Given the description of an element on the screen output the (x, y) to click on. 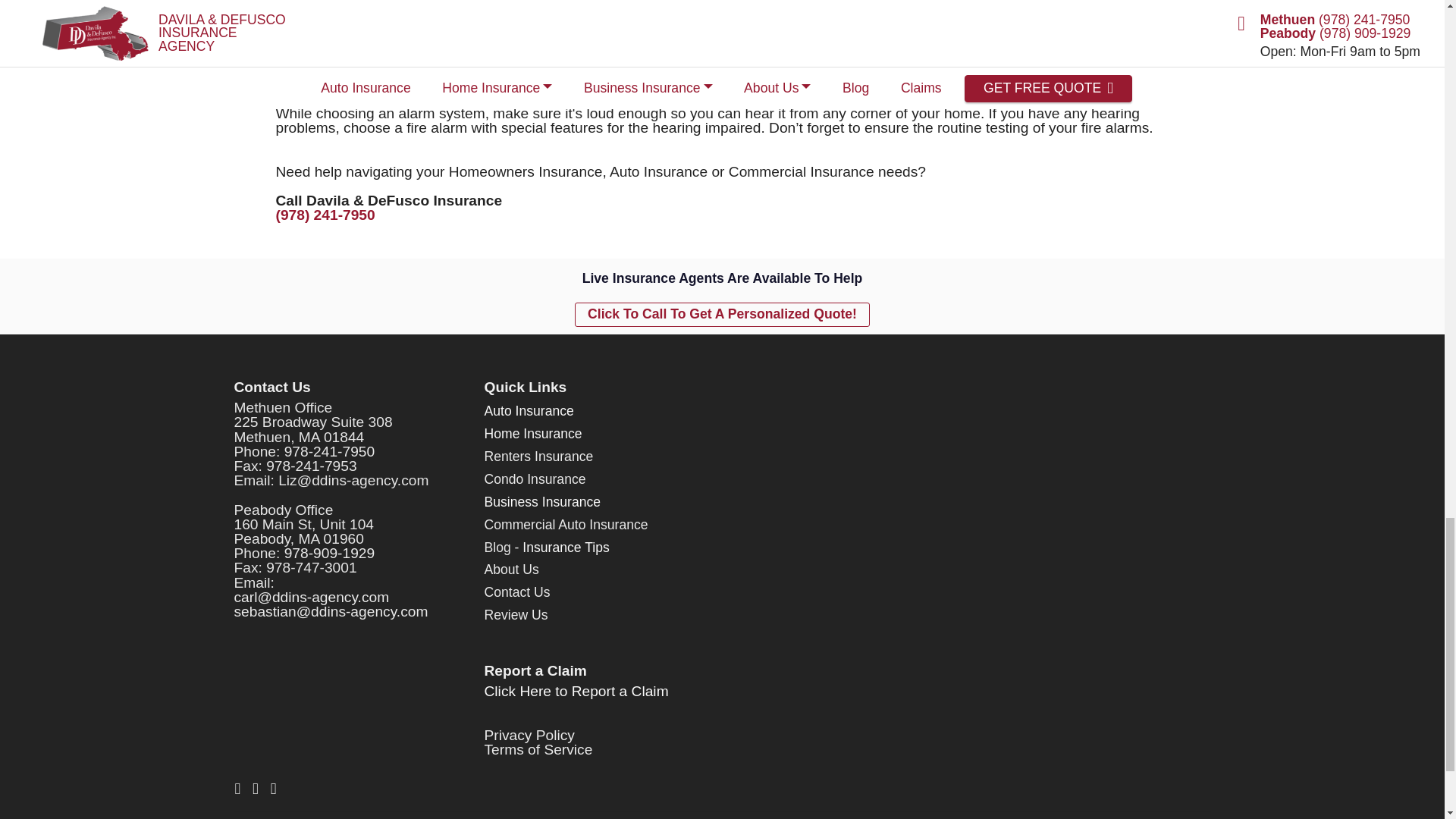
Auto Insurance (528, 410)
978-241-7950 (329, 451)
Click To Call To Get A Personalized Quote! (722, 314)
Condo Insurance (534, 478)
978-909-1929 (329, 553)
Commercial Auto Insurance (565, 524)
Home Insurance (531, 433)
Business Insurance (541, 501)
Renters Insurance (537, 456)
